Given the description of an element on the screen output the (x, y) to click on. 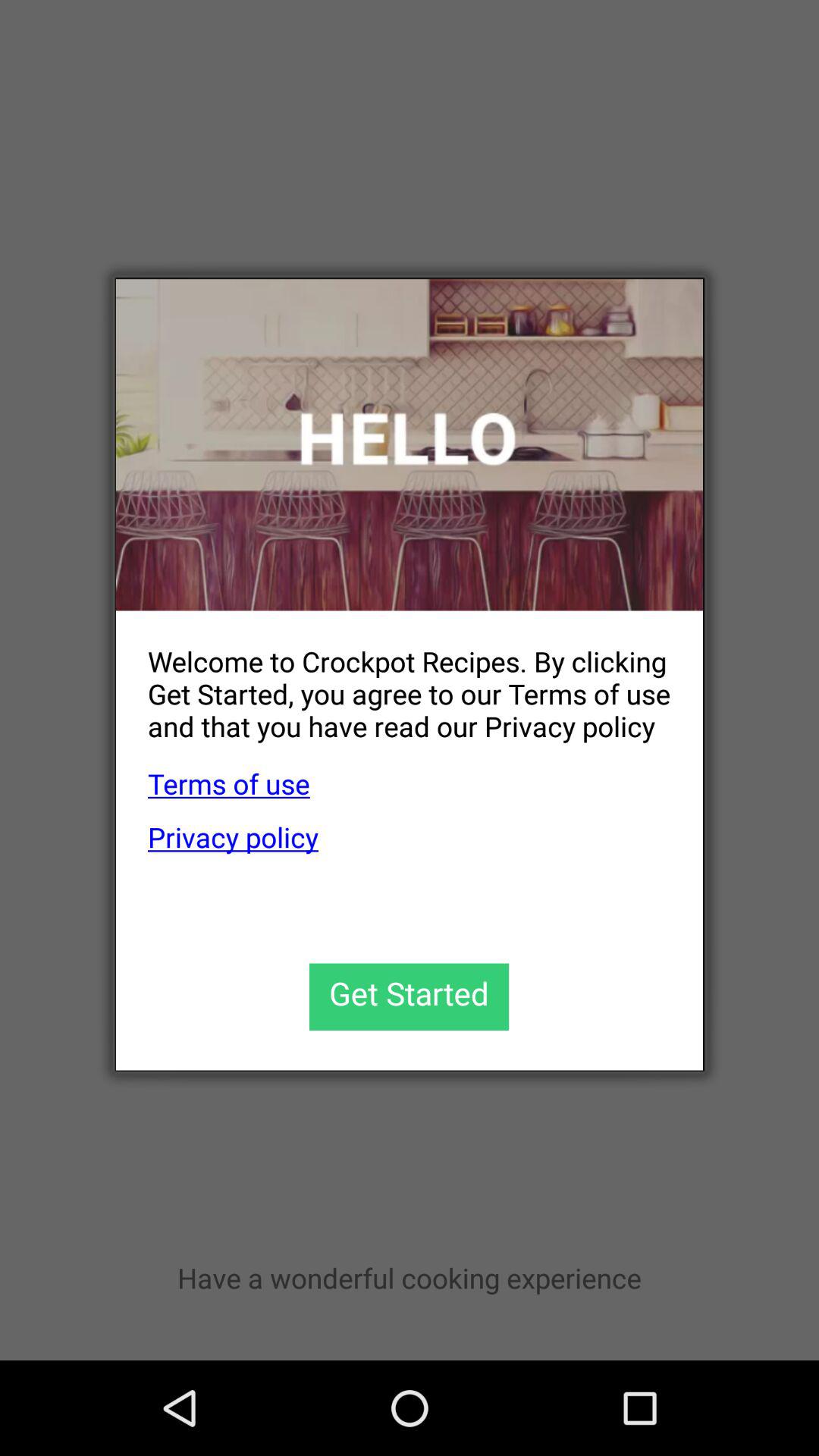
tap item at the top (409, 444)
